Given the description of an element on the screen output the (x, y) to click on. 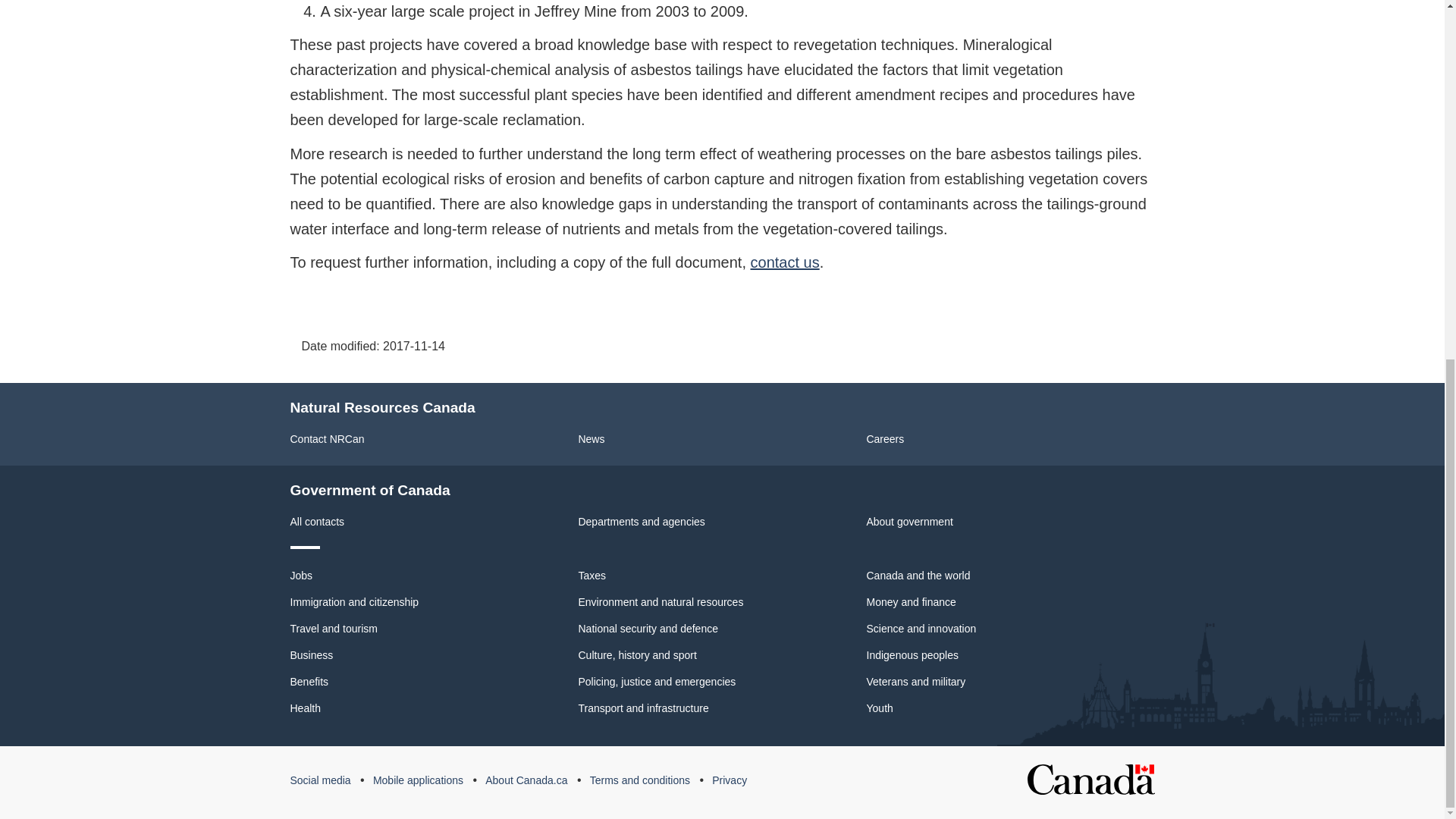
Departments and agencies (641, 521)
About government (909, 521)
Immigration and citizenship (354, 602)
Business (311, 654)
Contact NRCan (326, 439)
Travel and tourism (333, 628)
contact us (785, 262)
Taxes (591, 575)
All contacts (316, 521)
Careers (885, 439)
Benefits (309, 681)
Jobs (301, 575)
News (591, 439)
Health (304, 707)
